Given the description of an element on the screen output the (x, y) to click on. 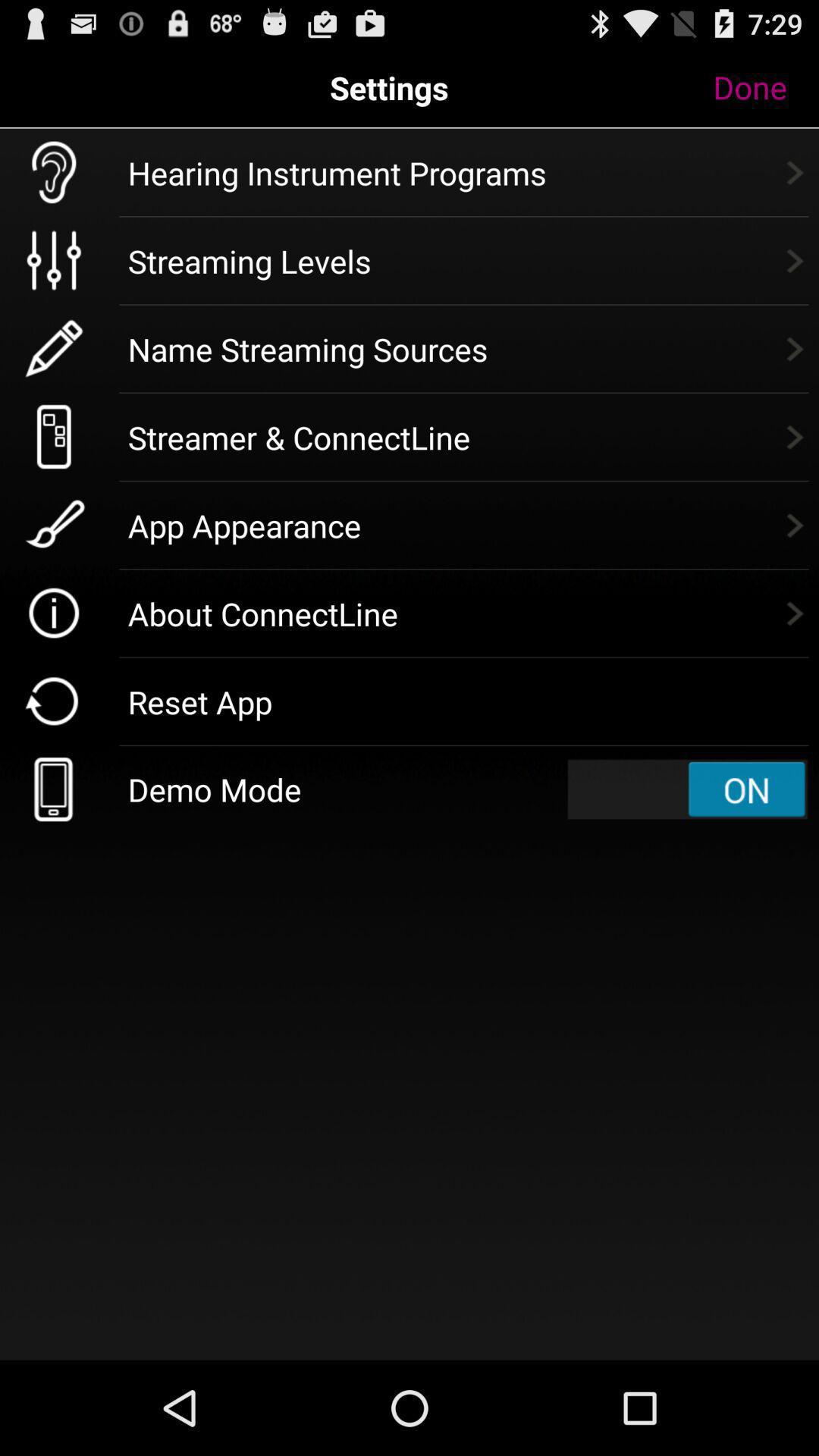
select the ear symbol (53, 172)
select the app appearance icone (53, 525)
select the icon which is right to the text streamer  connectline (793, 437)
click the next arrow button to the left of streaming levels text (793, 260)
